Given the description of an element on the screen output the (x, y) to click on. 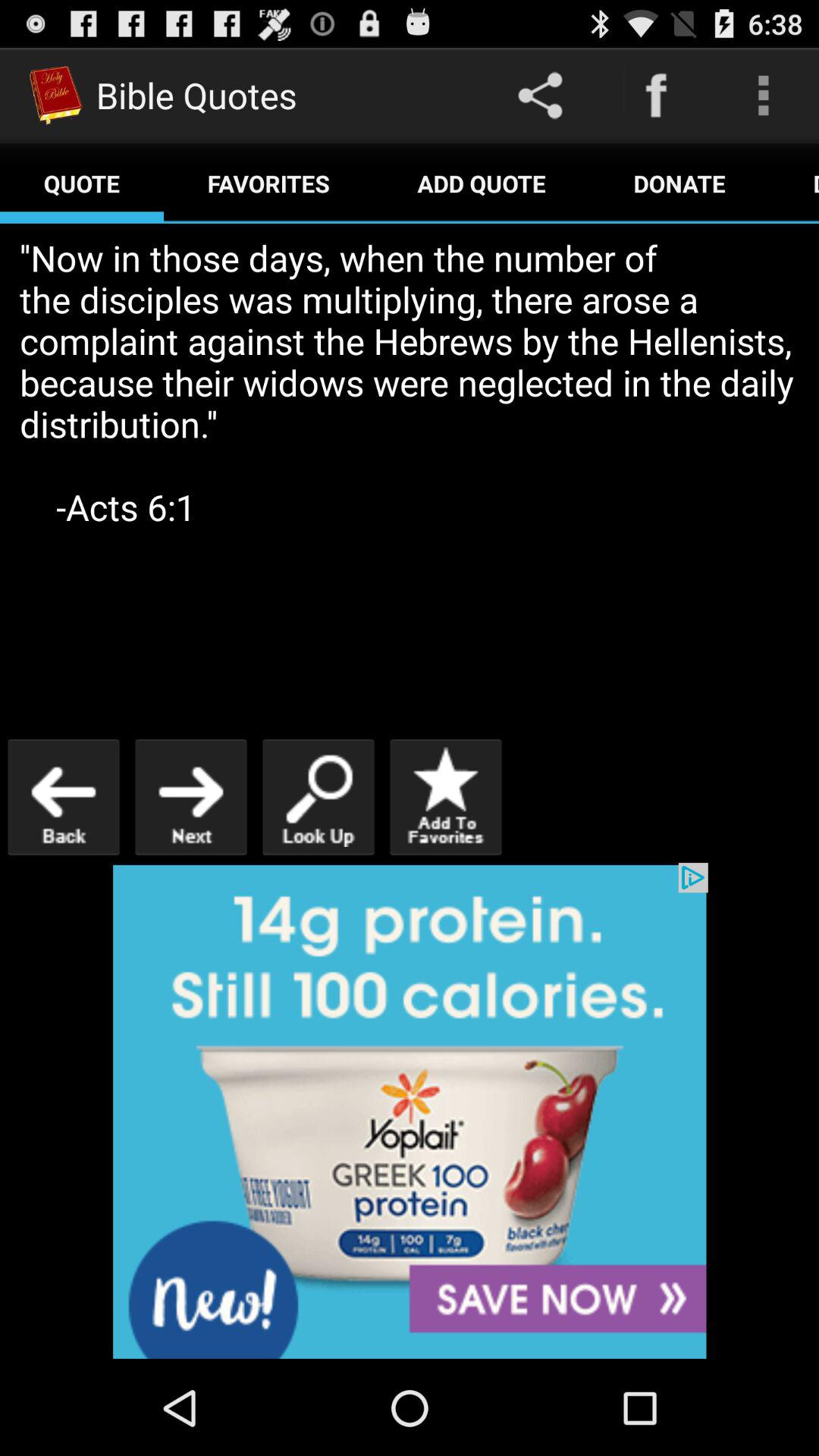
go to play button (190, 796)
